Given the description of an element on the screen output the (x, y) to click on. 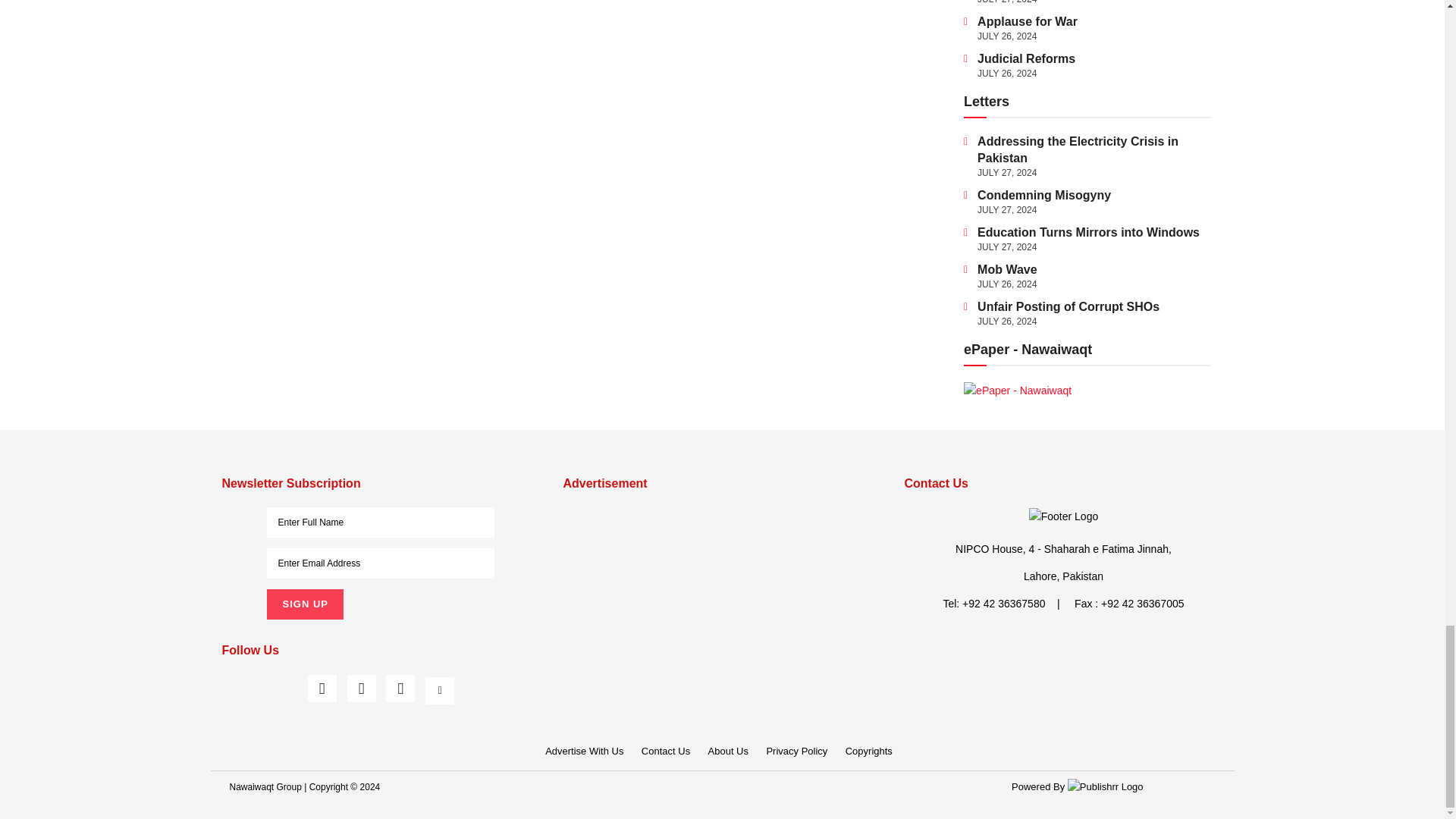
Sign up (304, 603)
